Given the description of an element on the screen output the (x, y) to click on. 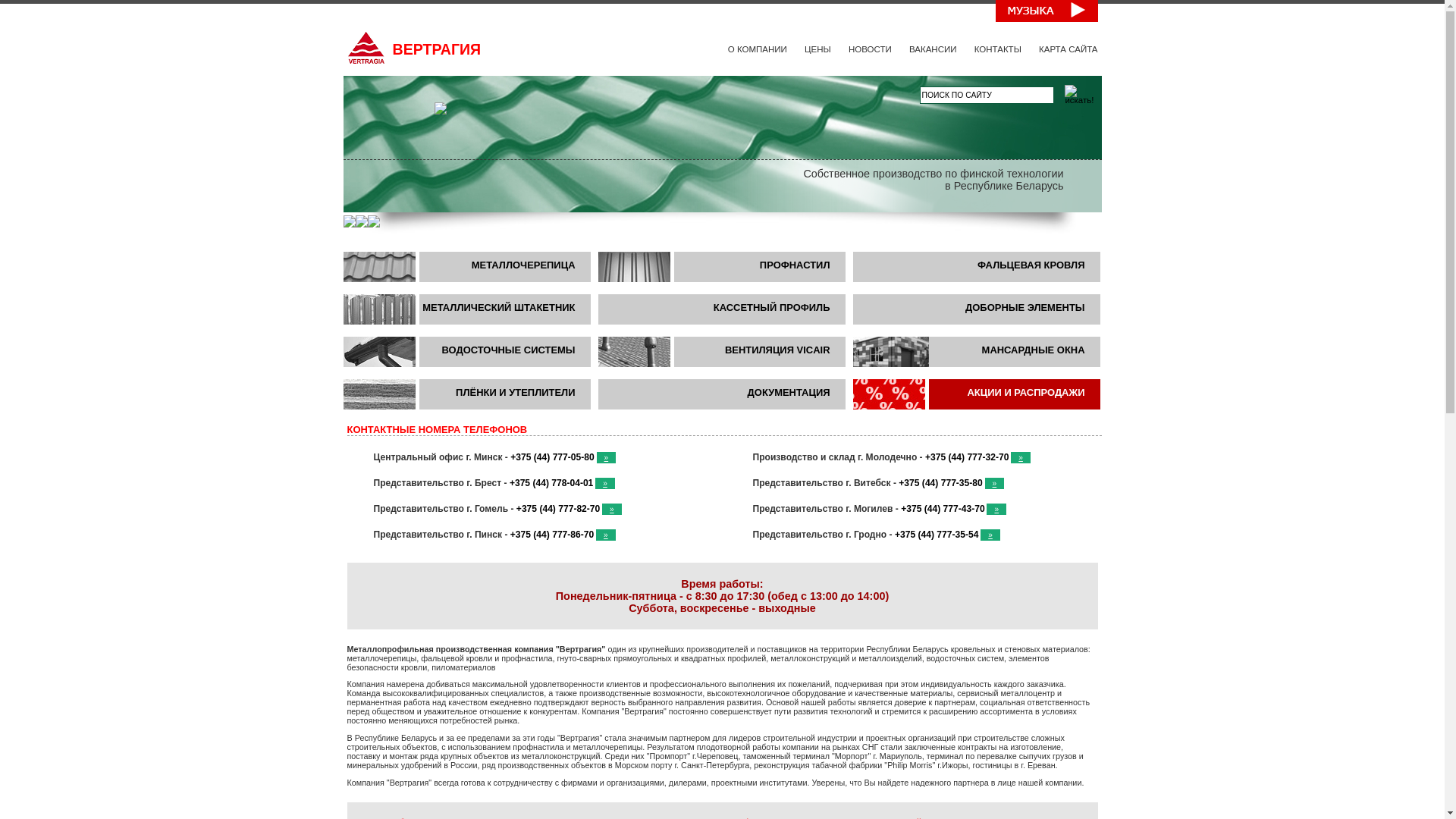
+375 (44) 777-05-80 Element type: text (551, 456)
+375 (44) 778-04-01 Element type: text (551, 482)
+375 (44) 777-35-80 Element type: text (940, 482)
+375 (44) 777-86-70 Element type: text (551, 534)
+375 (44) 777-32-70 Element type: text (966, 456)
+375 (44) 777-35-54 Element type: text (936, 534)
+375 (44) 777-82-70 Element type: text (557, 508)
+375 (44) 777-43-70 Element type: text (942, 508)
